Given the description of an element on the screen output the (x, y) to click on. 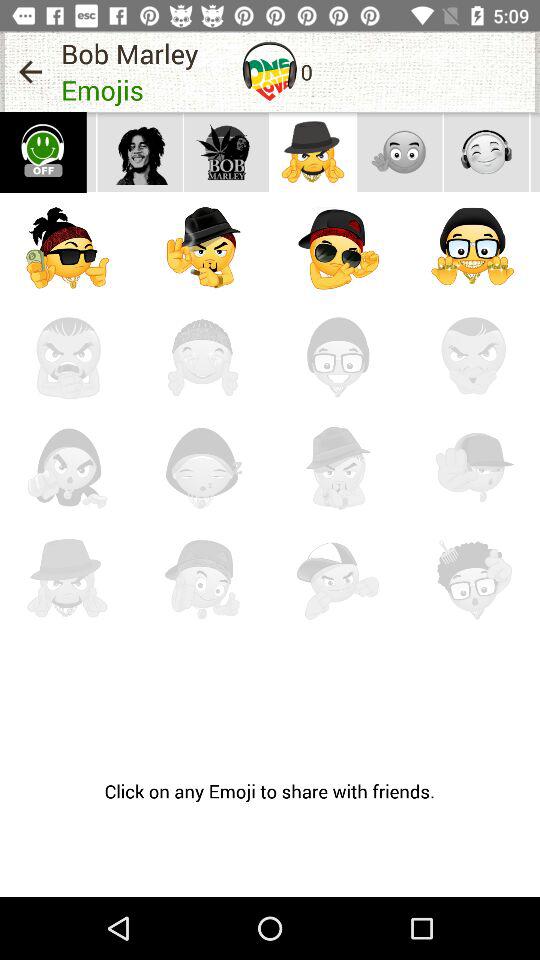
go back to pervious (30, 71)
